Given the description of an element on the screen output the (x, y) to click on. 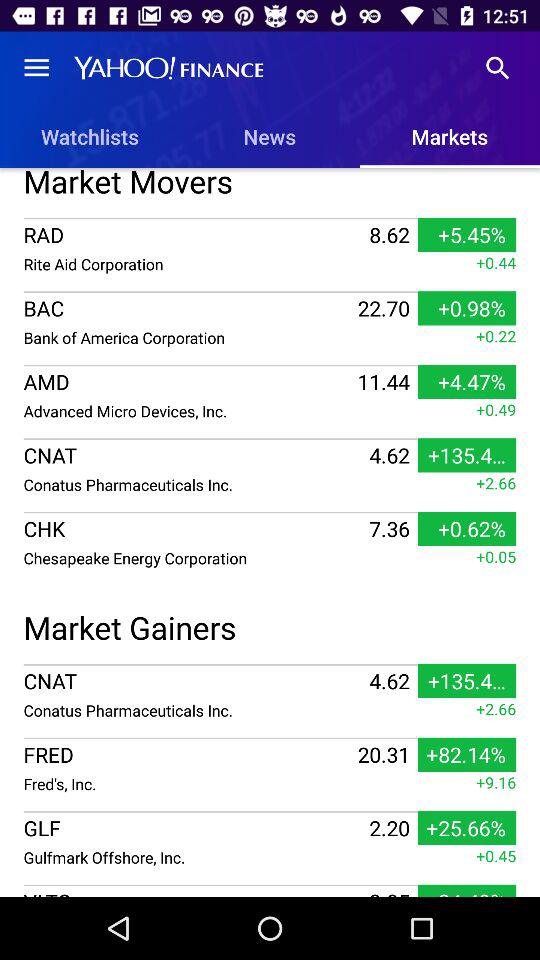
turn off item to the left of 2.20 item (193, 828)
